Given the description of an element on the screen output the (x, y) to click on. 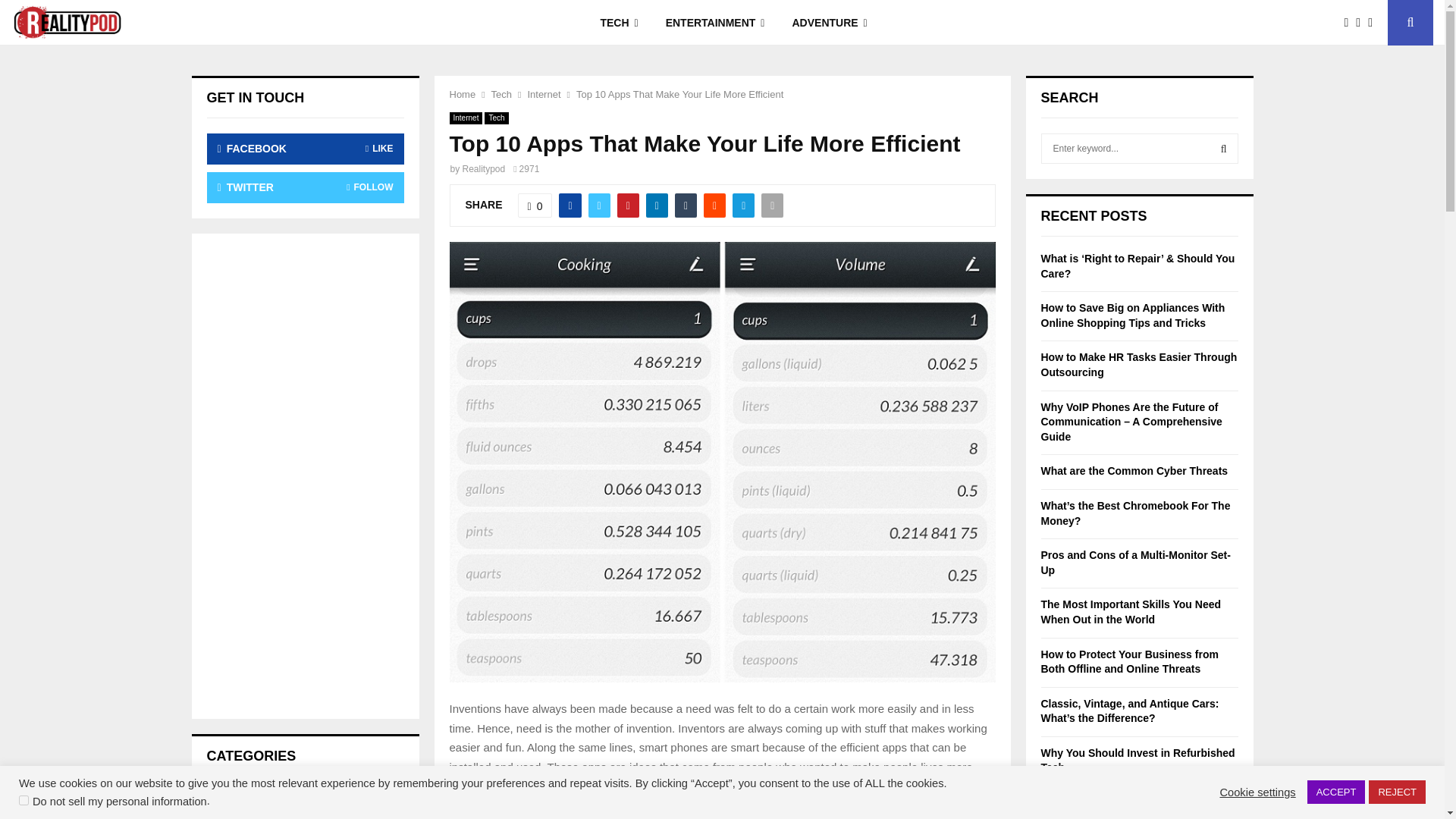
Realitypod (484, 168)
on (23, 800)
ENTERTAINMENT (715, 22)
Tech (496, 118)
Internet (543, 93)
Home (462, 93)
TECH (618, 22)
Top 10 Apps That Make Your Life More Efficient (679, 93)
Tech (502, 93)
Internet (464, 118)
0 (535, 205)
Like (535, 205)
ADVENTURE (828, 22)
